Given the description of an element on the screen output the (x, y) to click on. 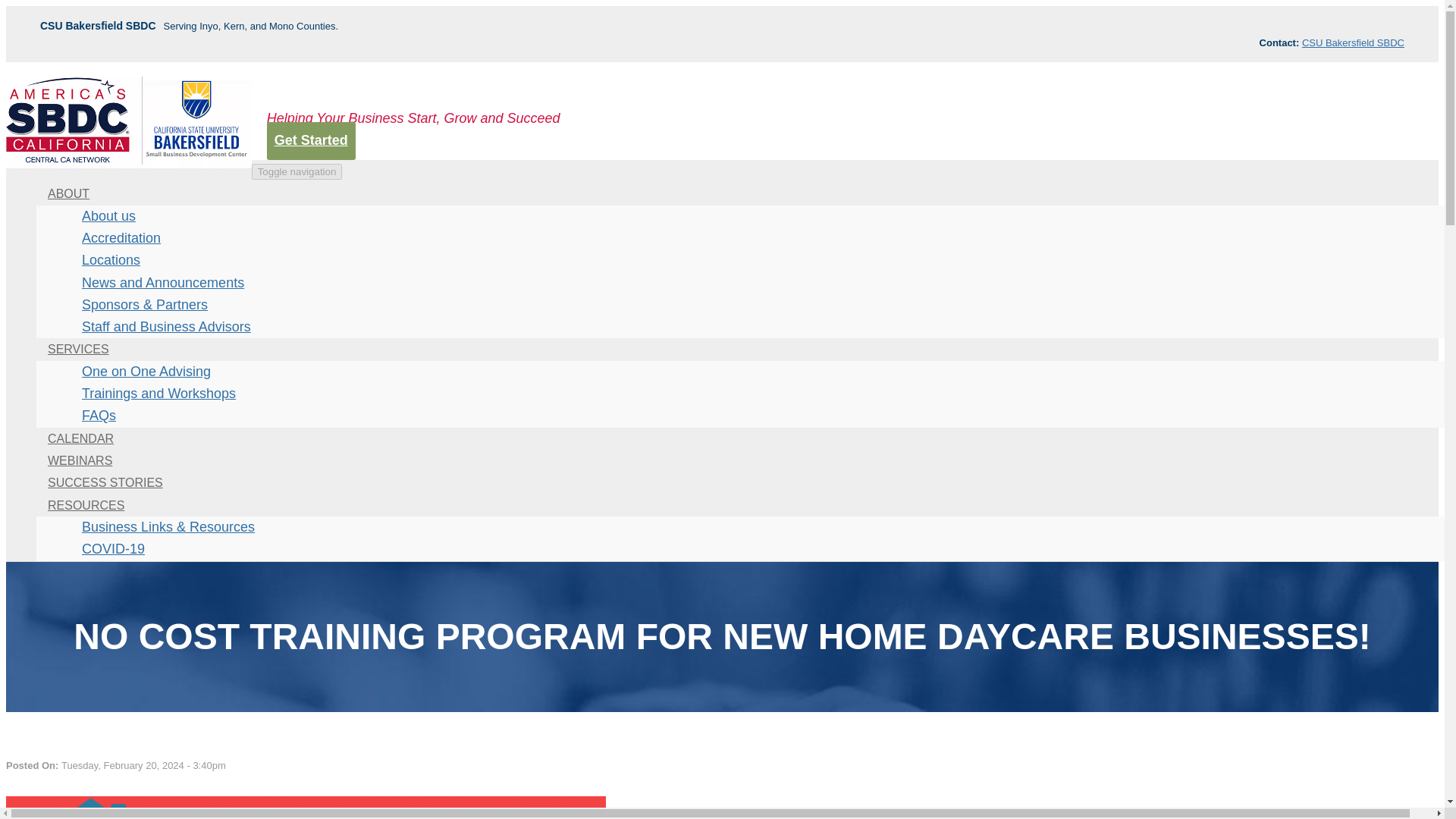
SERVICES (78, 348)
SUCCESS STORIES (105, 482)
Accreditation (121, 237)
RESOURCES (85, 505)
News and Announcements (162, 282)
Toggle navigation (296, 171)
ABOUT (68, 193)
Get Started (310, 140)
CALENDAR (80, 438)
One on One Advising (145, 371)
Home (128, 163)
COVID-19 (113, 548)
Locations (110, 259)
About us (108, 215)
Staff and Business Advisors (166, 327)
